Given the description of an element on the screen output the (x, y) to click on. 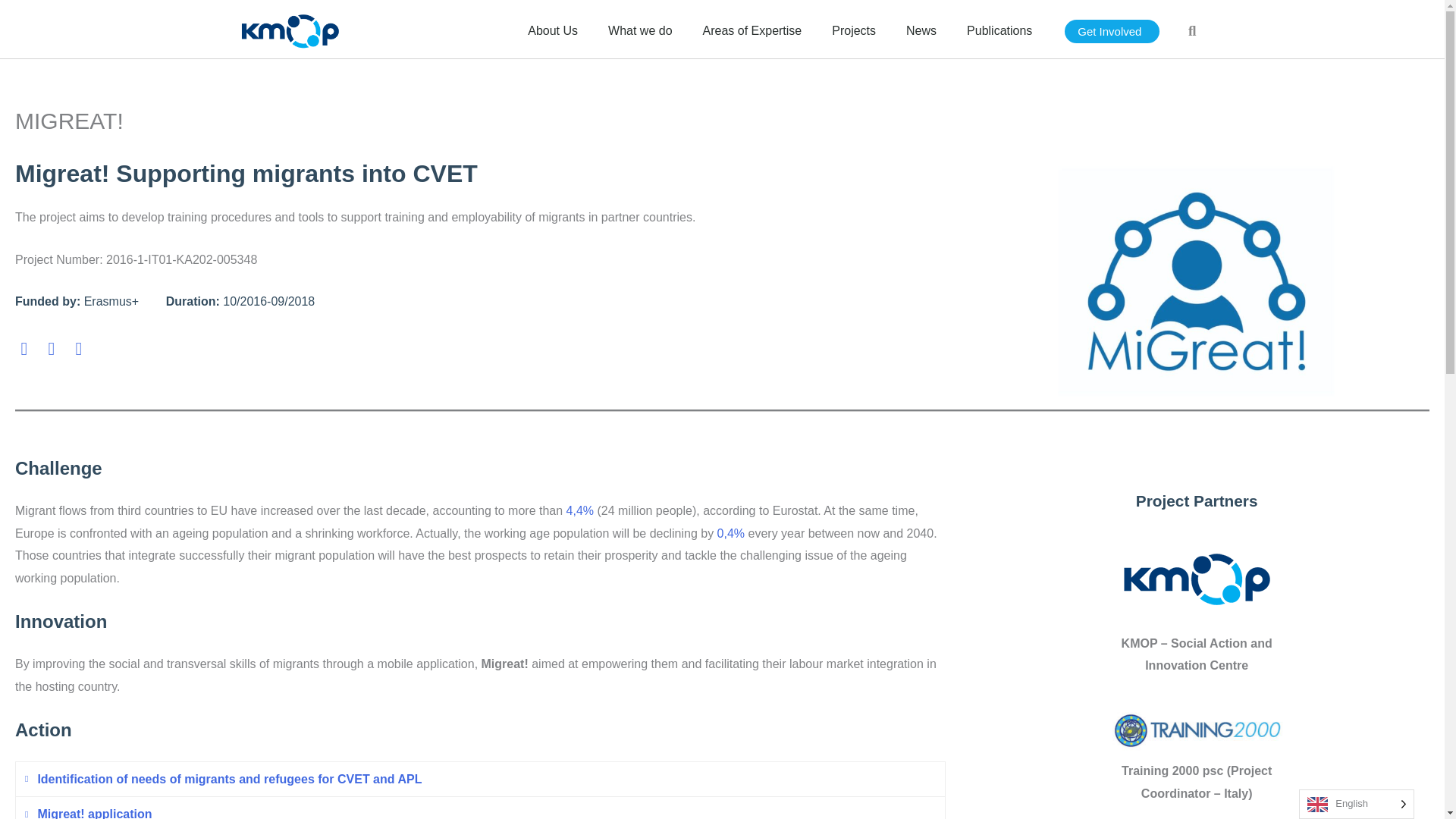
Migreat! application (480, 811)
Areas of Expertise (751, 34)
News (921, 34)
What we do (639, 34)
About Us (552, 34)
Publications (999, 34)
Get Involved (1111, 31)
Projects (853, 34)
